Given the description of an element on the screen output the (x, y) to click on. 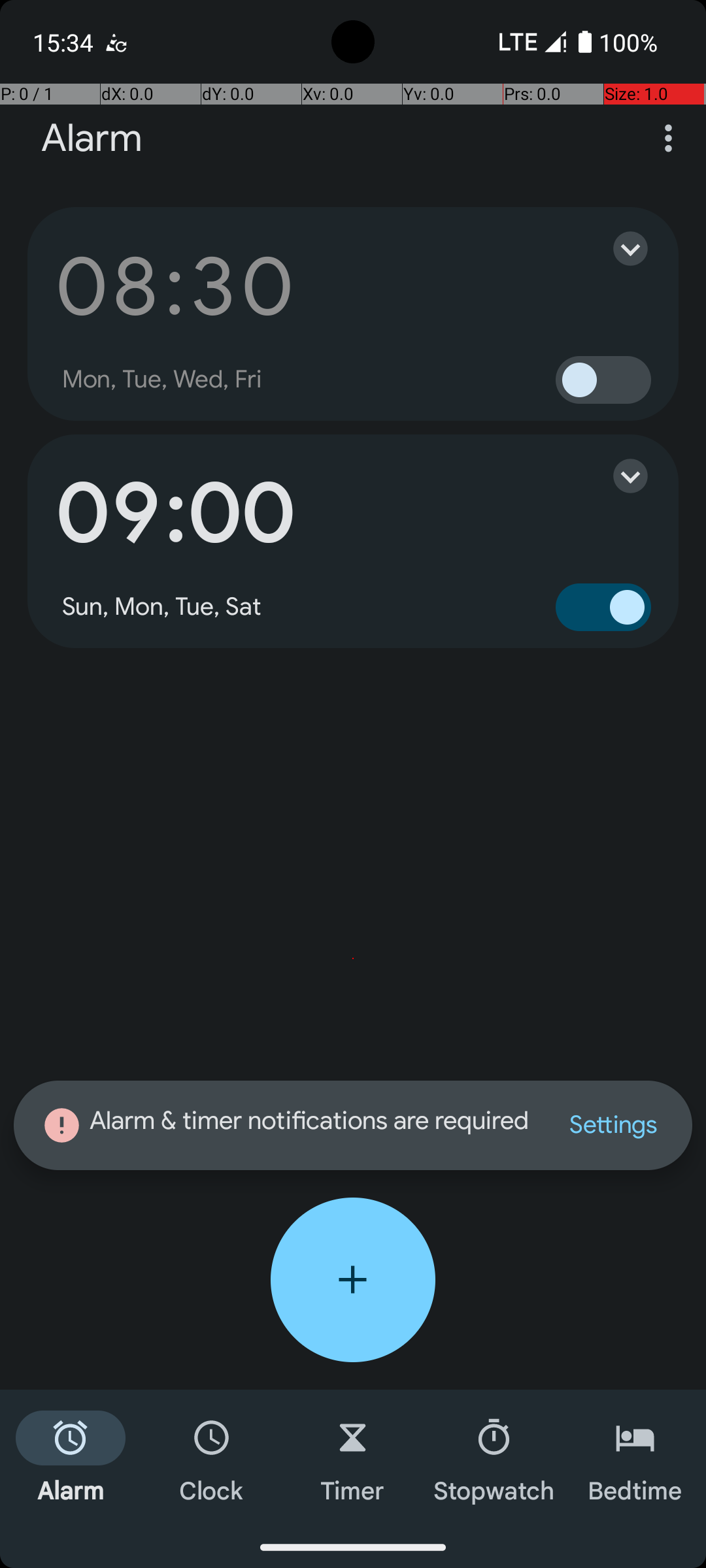
Mon, Tue, Wed, Fri Element type: android.widget.TextView (161, 379)
Sun, Mon, Tue, Sat Element type: android.widget.TextView (161, 606)
Alarm & timer notifications are required Element type: android.widget.TextView (287, 1125)
